Given the description of an element on the screen output the (x, y) to click on. 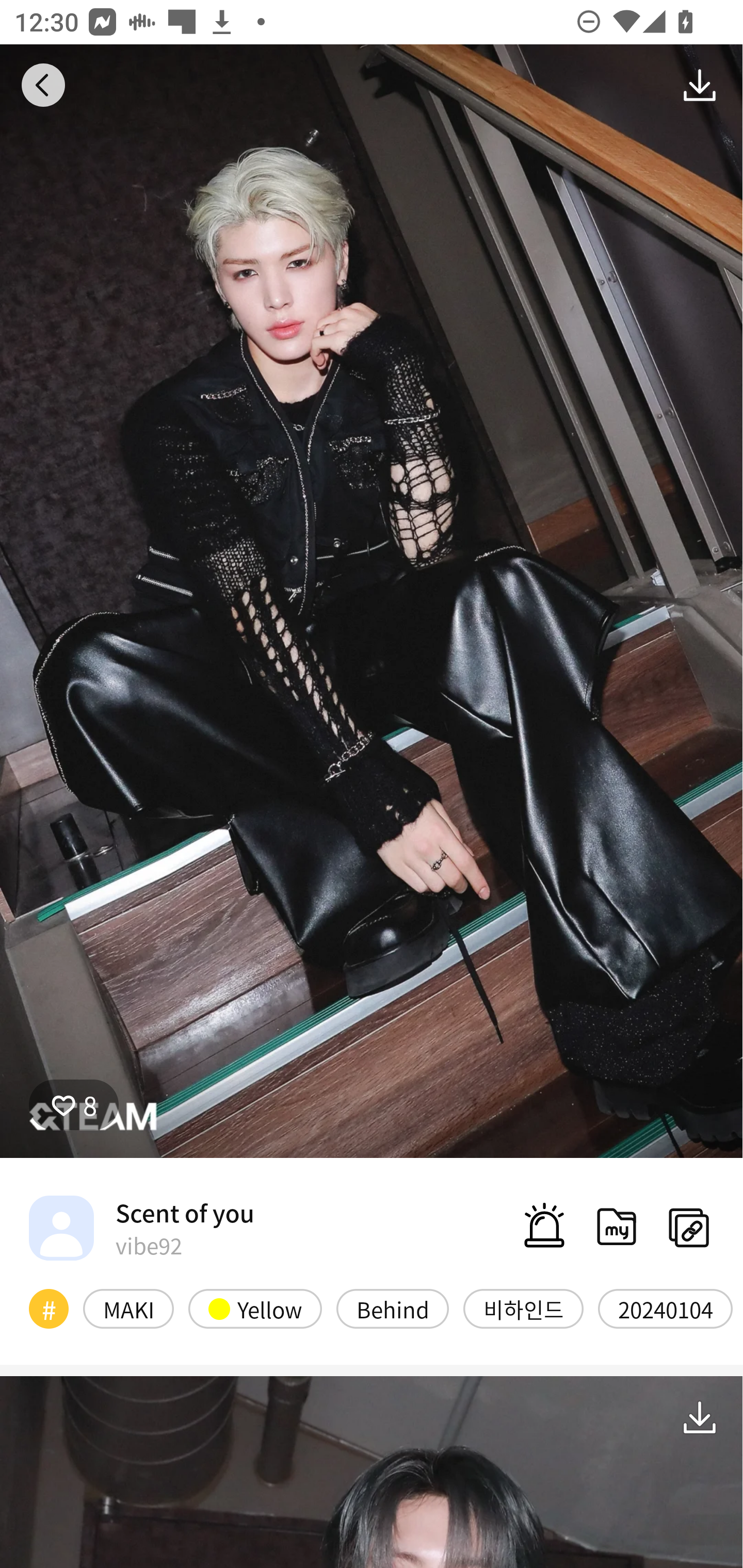
8 (73, 1104)
Scent of you vibe92 (141, 1227)
MAKI (128, 1308)
Yellow (254, 1308)
Behind (392, 1308)
비하인드 (523, 1308)
20240104 (665, 1308)
